Given the description of an element on the screen output the (x, y) to click on. 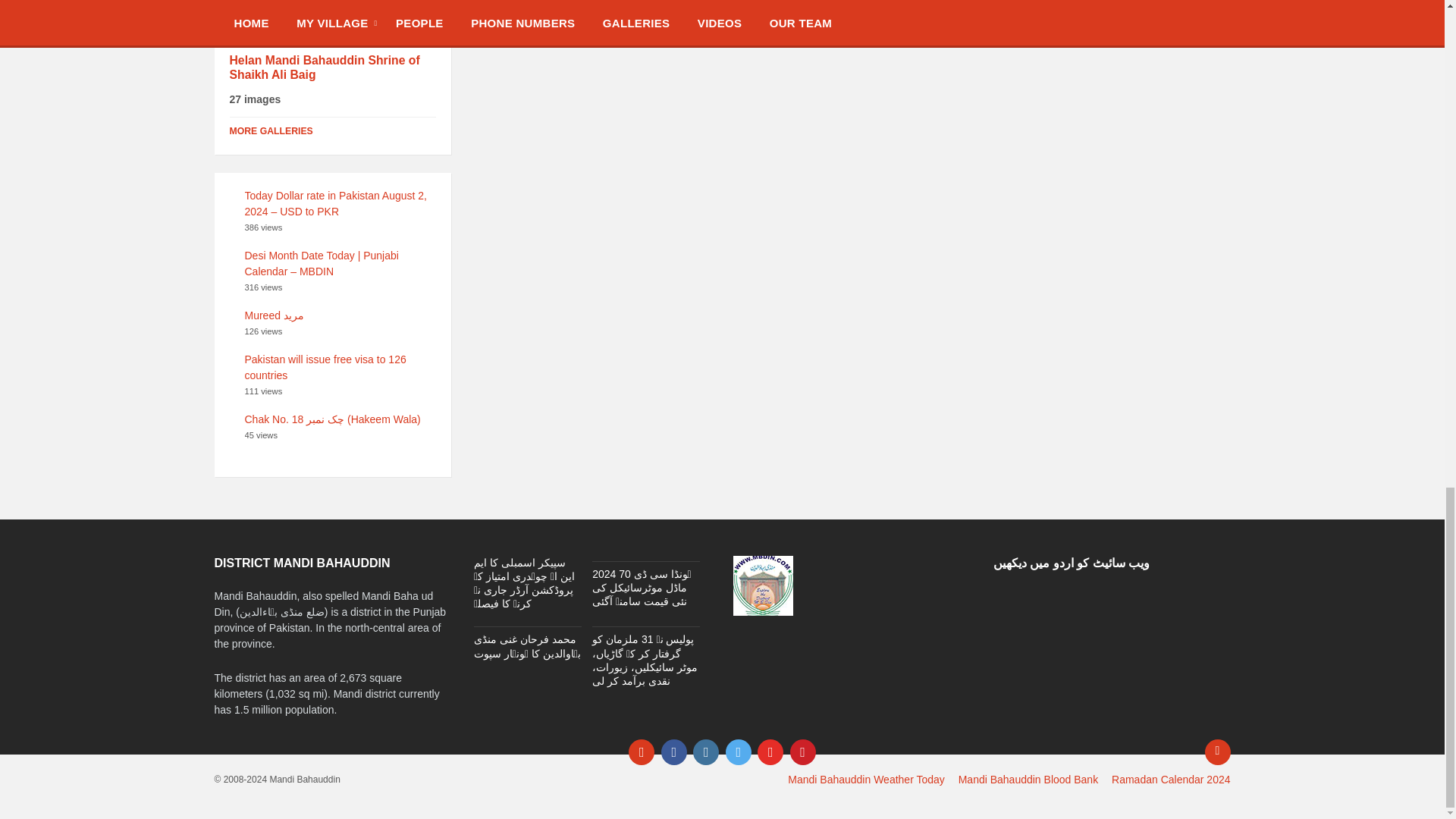
Back to top (1217, 751)
helan maqbra picture (327, 11)
Email (640, 751)
Twitter (738, 751)
Instagram (706, 751)
Social Media Links (722, 751)
YouTube (770, 751)
Facebook (674, 751)
Pinterest (802, 751)
